Given the description of an element on the screen output the (x, y) to click on. 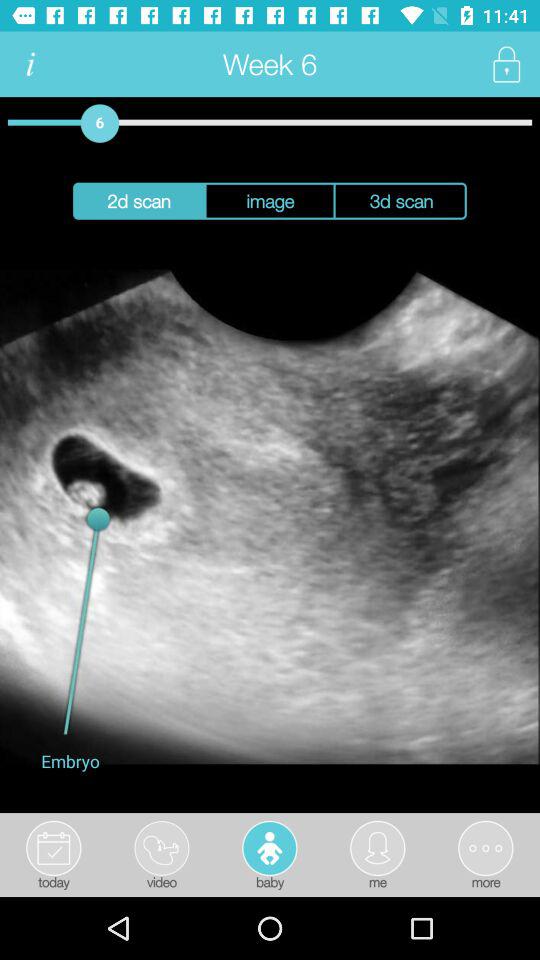
press item next to the week 6 item (506, 63)
